Given the description of an element on the screen output the (x, y) to click on. 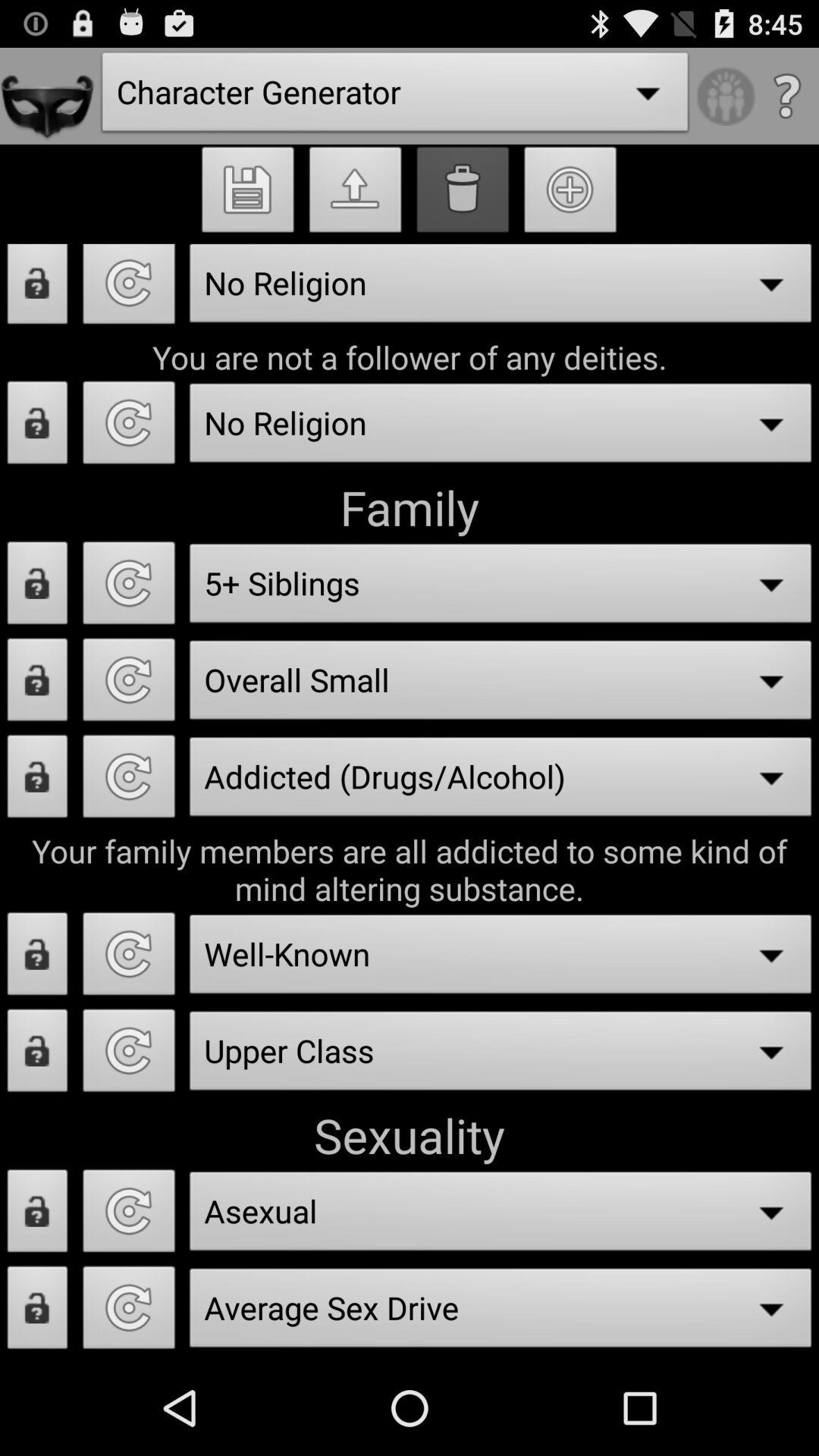
lock option (37, 426)
